Given the description of an element on the screen output the (x, y) to click on. 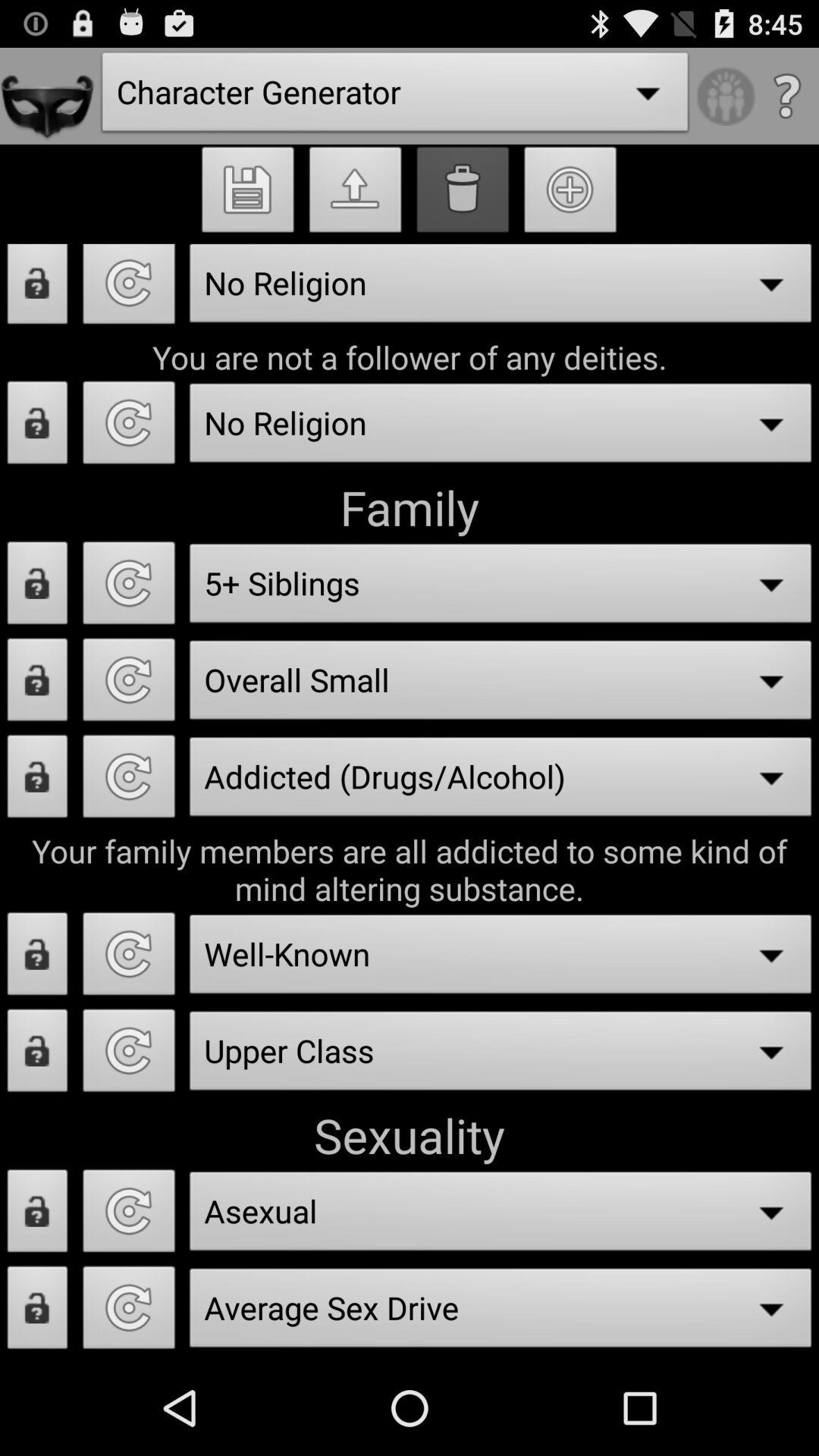
lock option (37, 426)
